Given the description of an element on the screen output the (x, y) to click on. 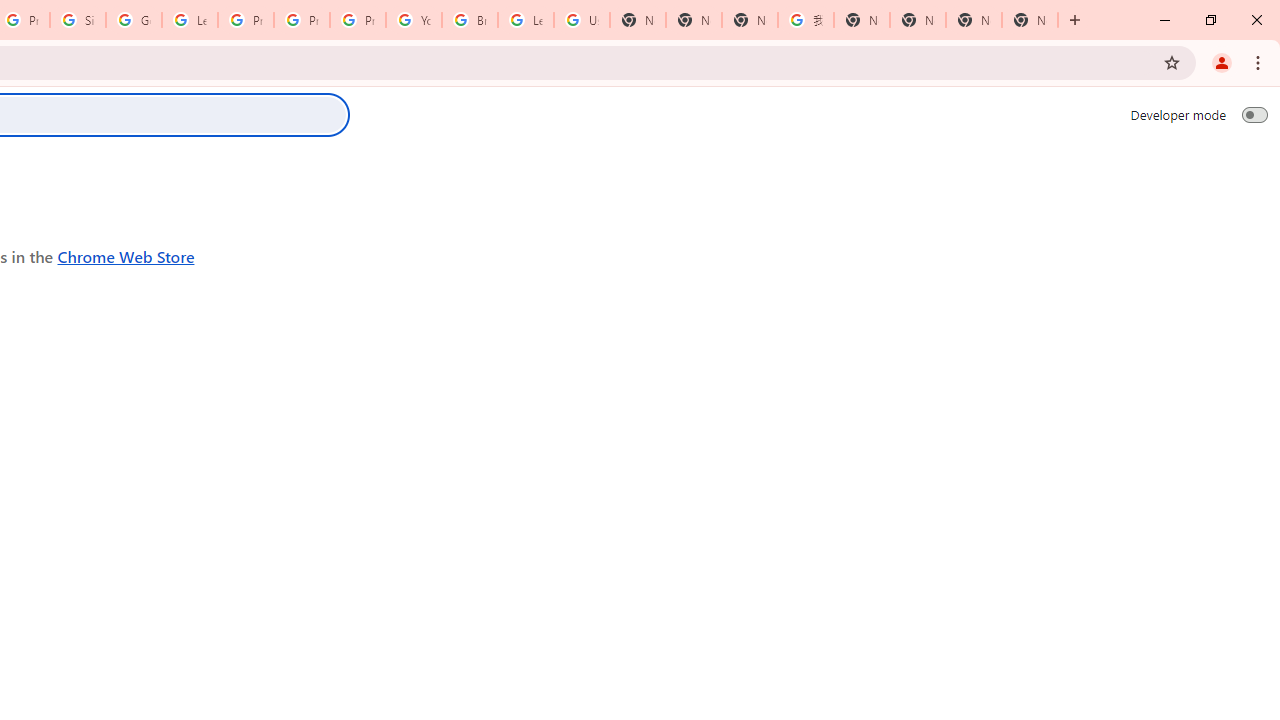
New Tab (1030, 20)
YouTube (413, 20)
